Given the description of an element on the screen output the (x, y) to click on. 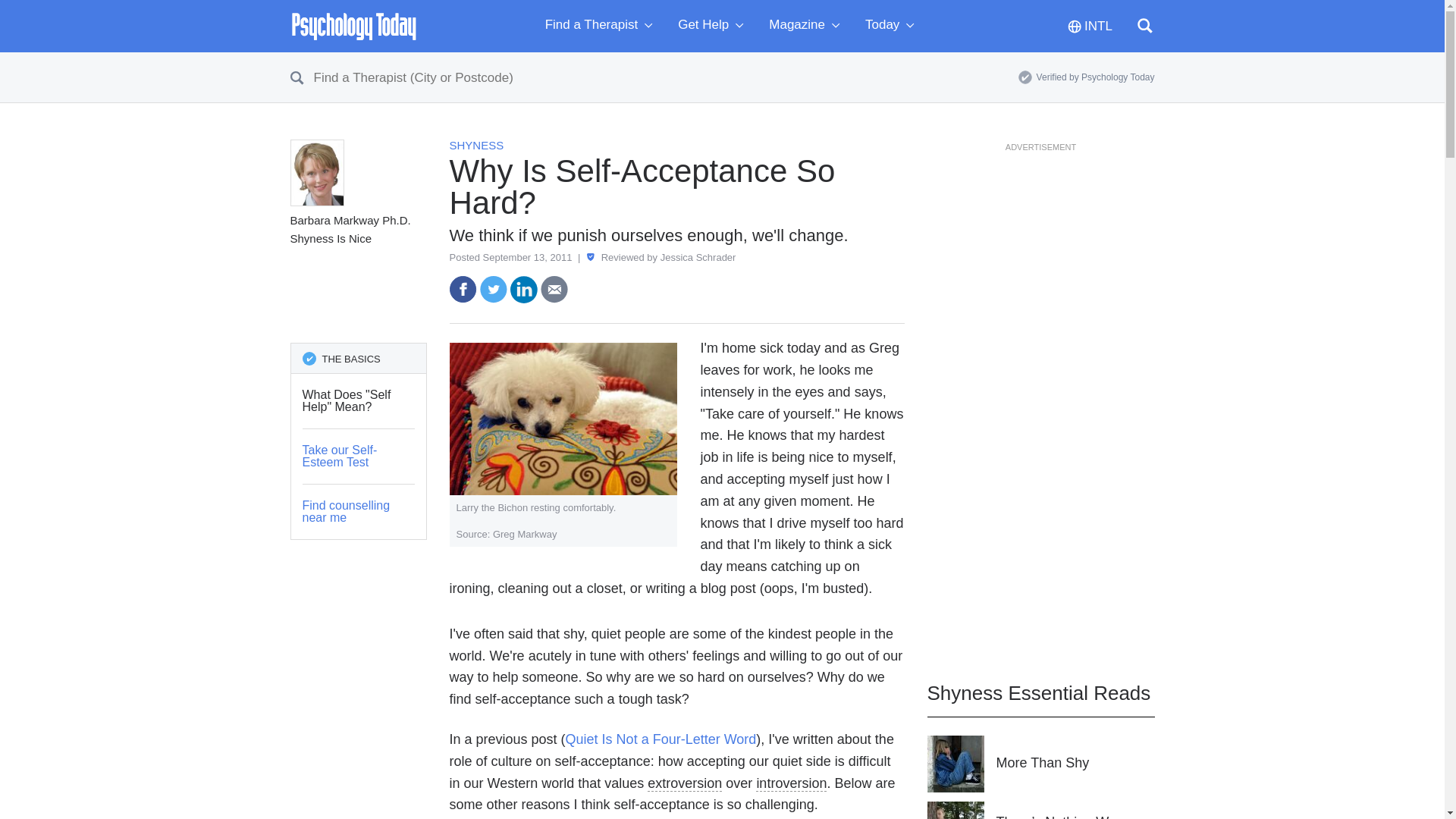
Psychology Today (352, 25)
Find a Therapist (602, 25)
Get Help (714, 25)
